Given the description of an element on the screen output the (x, y) to click on. 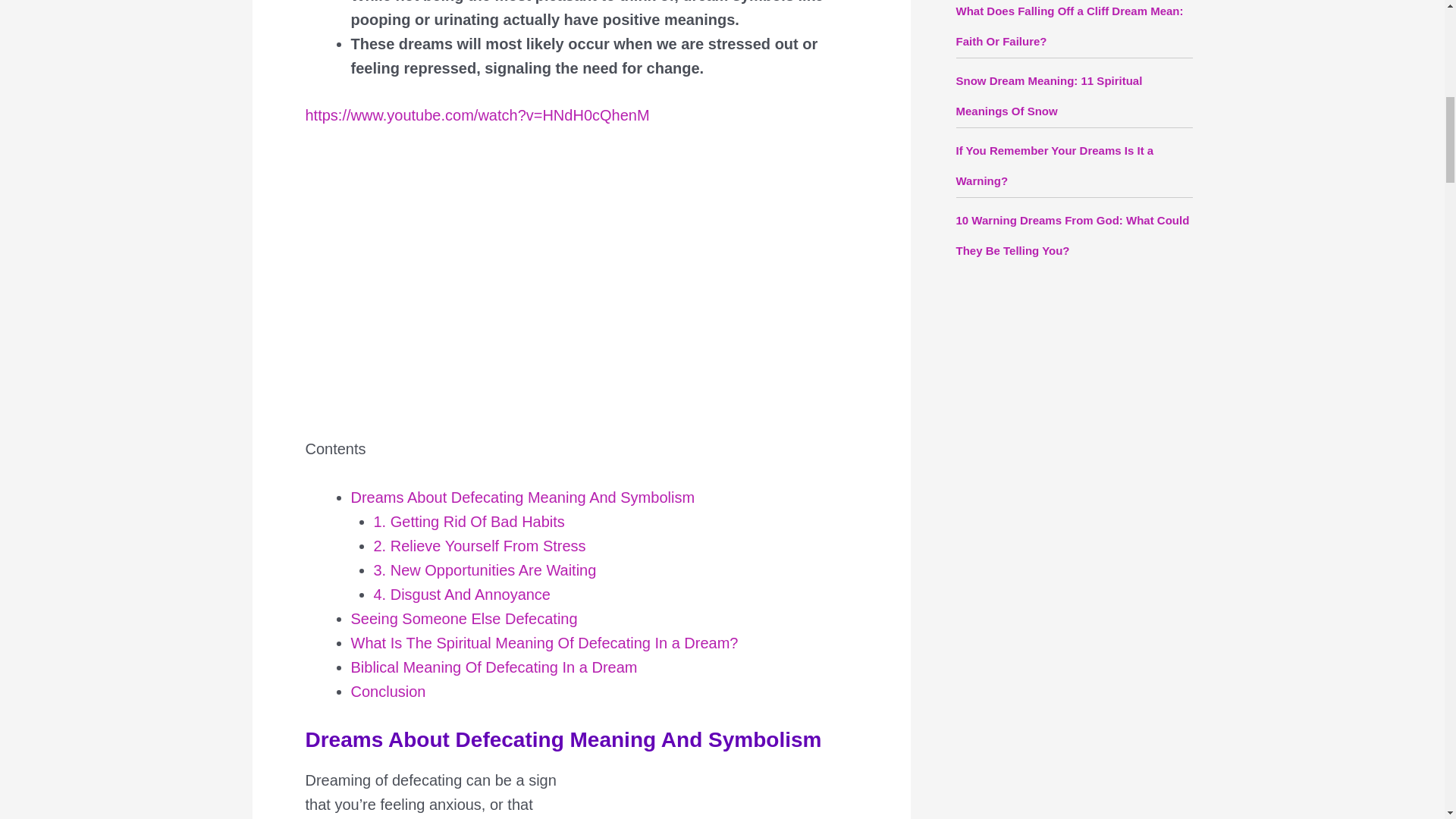
What Is The Spiritual Meaning Of Defecating In a Dream? (544, 641)
4. Disgust And Annoyance (461, 593)
3. New Opportunities Are Waiting (483, 569)
1. Getting Rid Of Bad Habits (468, 520)
Conclusion (387, 690)
Seeing Someone Else Defecating (463, 617)
Dreams About Defecating Meaning And Symbolism (522, 496)
Biblical Meaning Of Defecating In a Dream (493, 666)
What Does Falling Off a Cliff Dream Mean: Faith Or Failure? (1068, 25)
2. Relieve Yourself From Stress (478, 545)
